Given the description of an element on the screen output the (x, y) to click on. 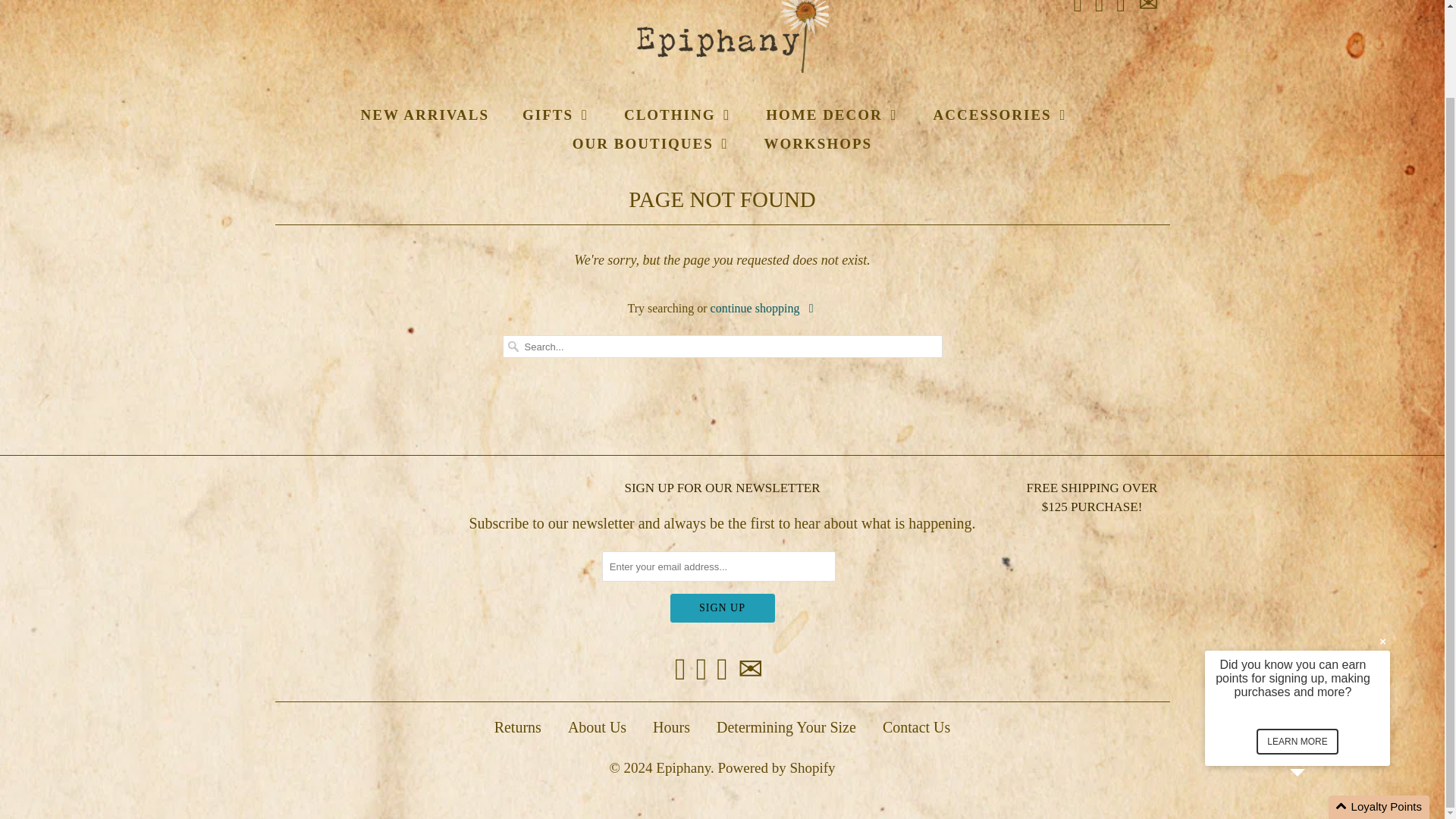
Email Epiphany (750, 669)
Epiphany (721, 37)
Email Epiphany (1147, 7)
Sign Up (721, 607)
